Given the description of an element on the screen output the (x, y) to click on. 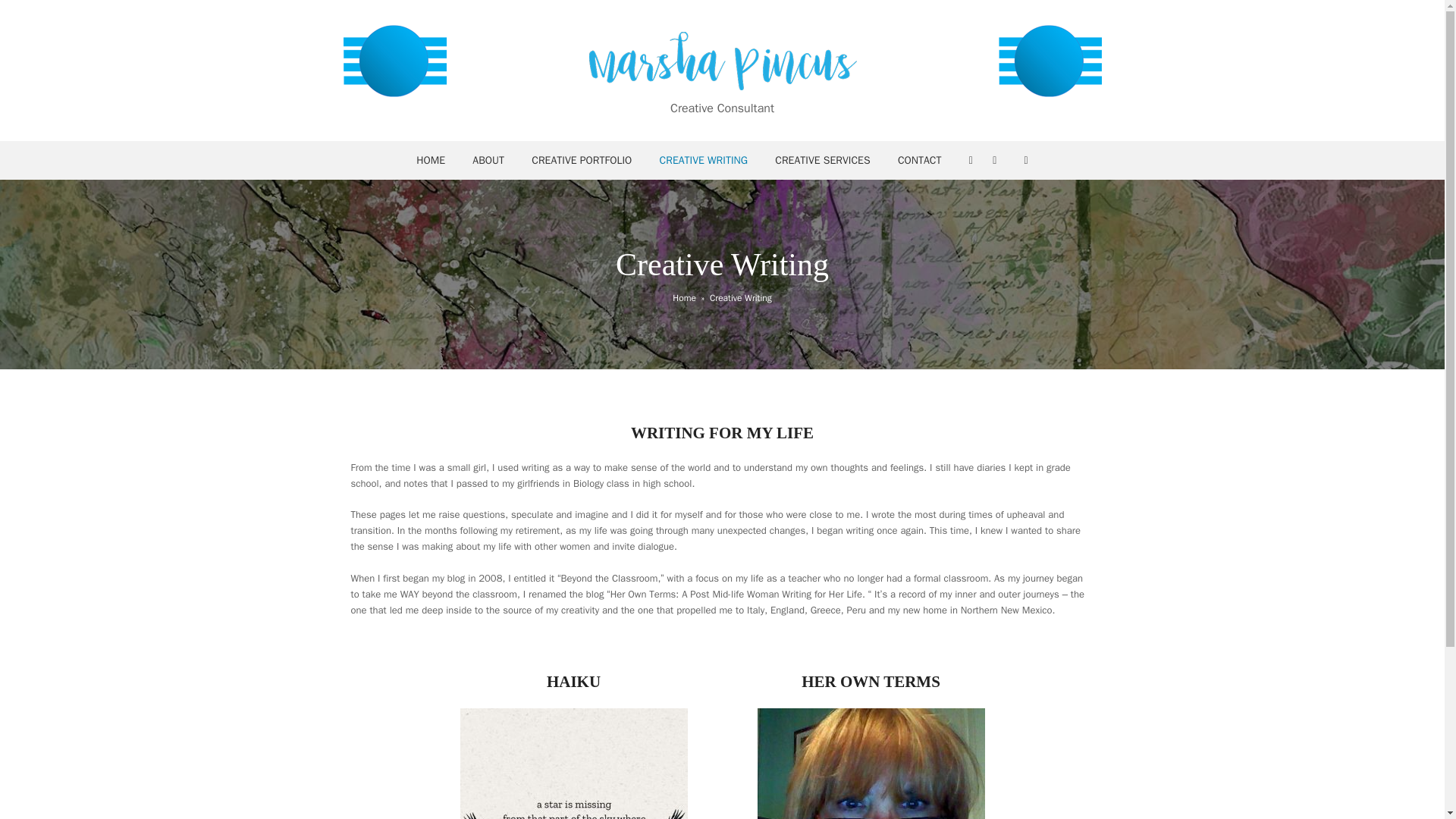
HER OWN TERMS (871, 681)
CREATIVE WRITING (703, 160)
CREATIVE PORTFOLIO (581, 160)
Home (683, 297)
HAIKU (573, 681)
HOME (430, 160)
CONTACT (919, 160)
CREATIVE SERVICES (822, 160)
ABOUT (488, 160)
